Given the description of an element on the screen output the (x, y) to click on. 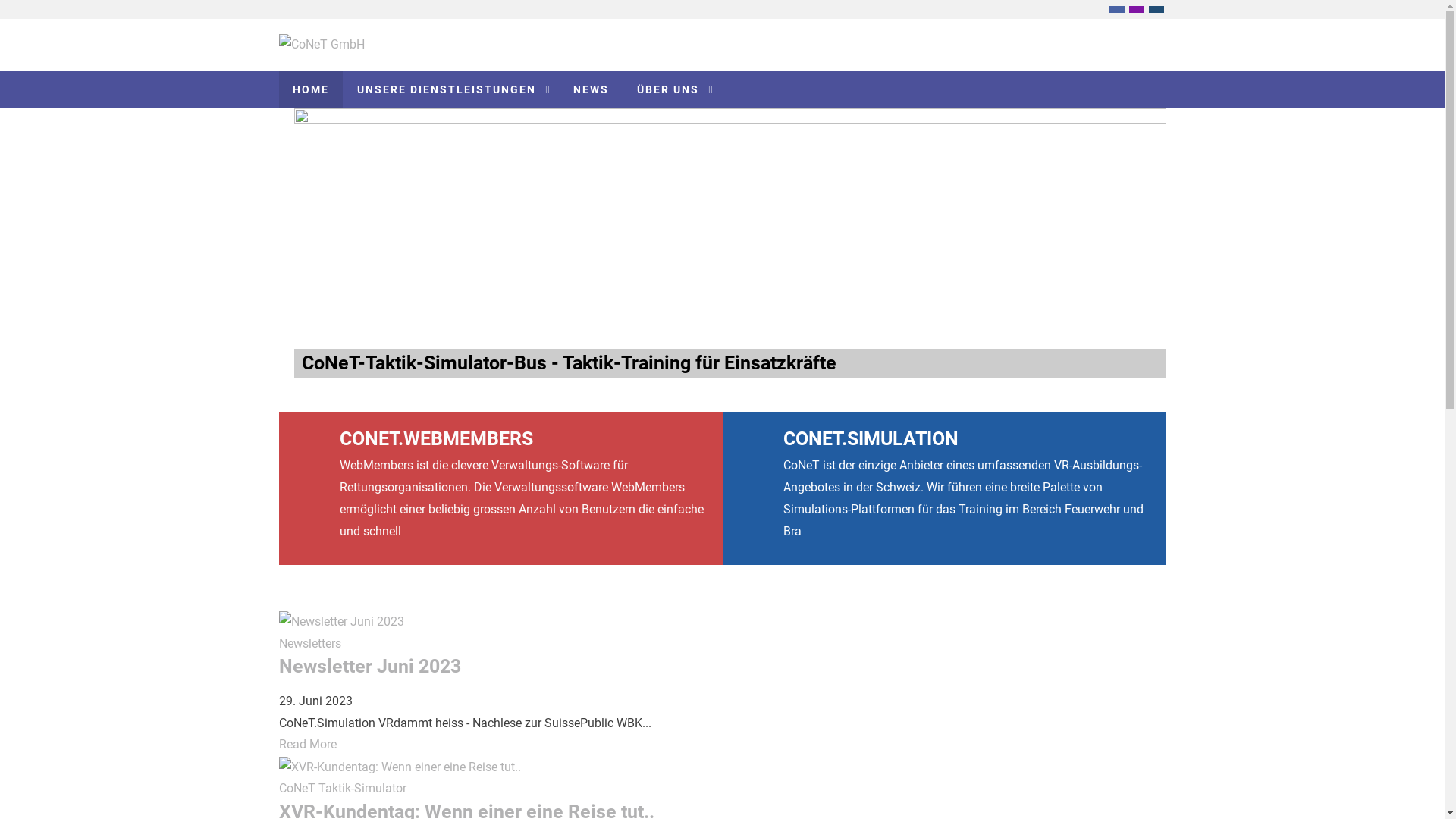
Read More Element type: text (307, 744)
Skip to content Element type: text (40, 10)
UNSERE DIENSTLEISTUNGEN Element type: text (450, 89)
CONET.WEBMEMBERS Element type: text (436, 438)
Suche Element type: text (1143, 152)
Taktik-Simulator Element type: text (362, 788)
Newsletter Juni 2023 Element type: text (370, 666)
CoNeT Element type: text (297, 788)
Newsletters Element type: text (310, 643)
HOME Element type: text (310, 89)
NEWS Element type: text (590, 89)
CoNeT-Taktik-Simulator-Bus Element type: hover (730, 224)
CONET.SIMULATION Element type: text (869, 438)
